Given the description of an element on the screen output the (x, y) to click on. 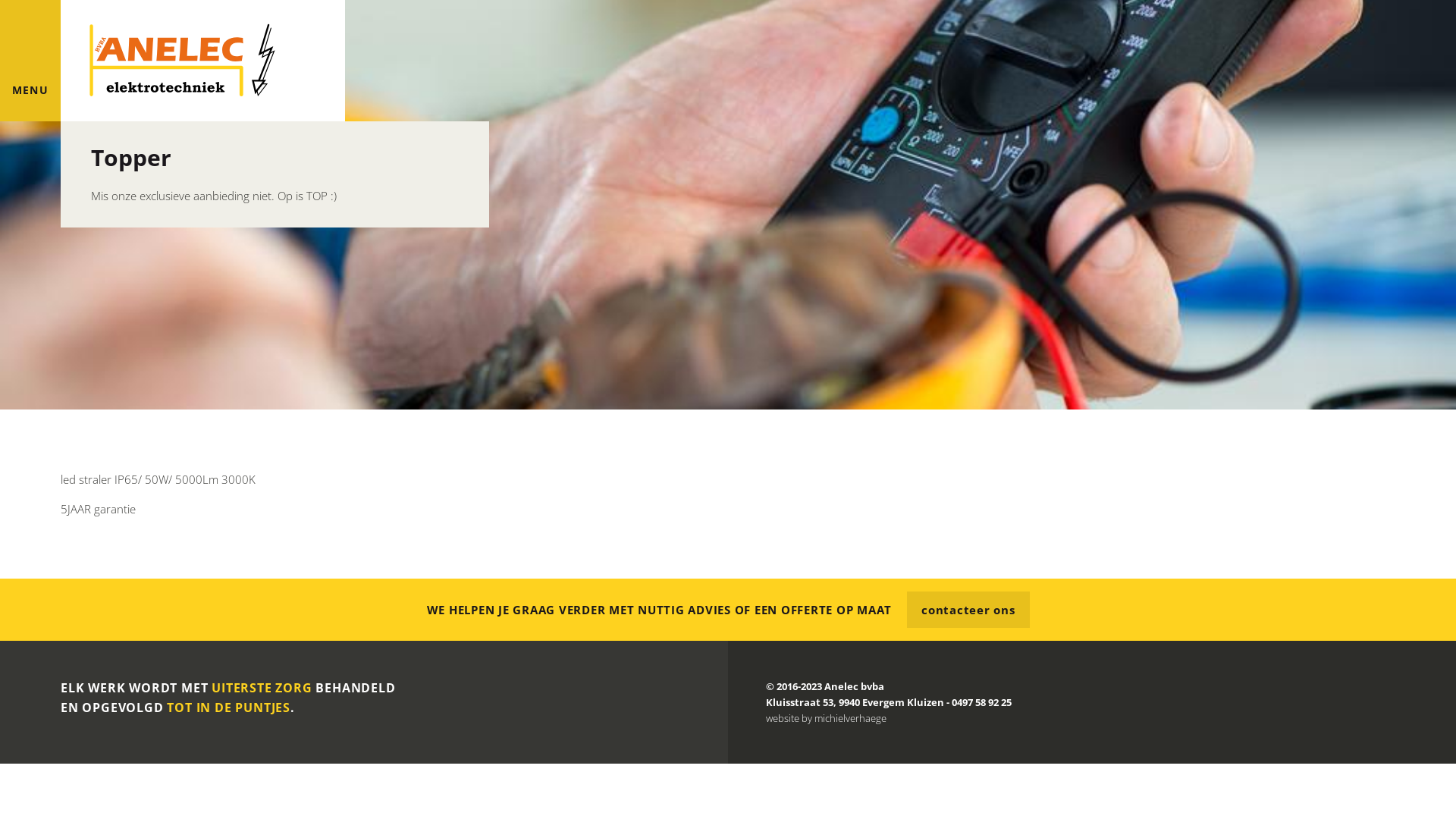
Anelec bvba Element type: hover (202, 60)
MENU Element type: text (30, 60)
Anelec bvba Element type: text (854, 686)
website by michielverhaege Element type: text (825, 717)
